Given the description of an element on the screen output the (x, y) to click on. 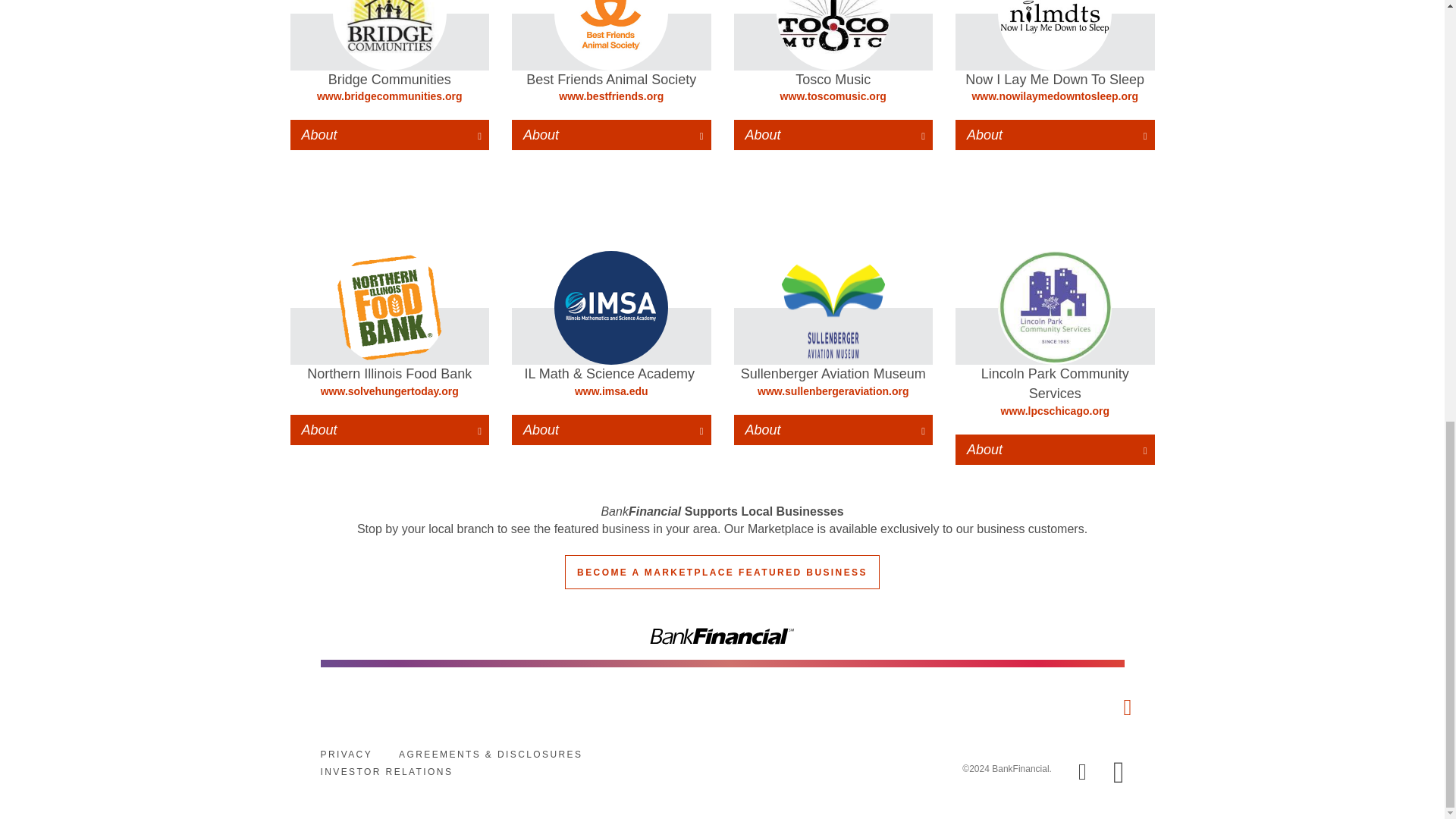
Equal Housing Lender (1118, 768)
